Given the description of an element on the screen output the (x, y) to click on. 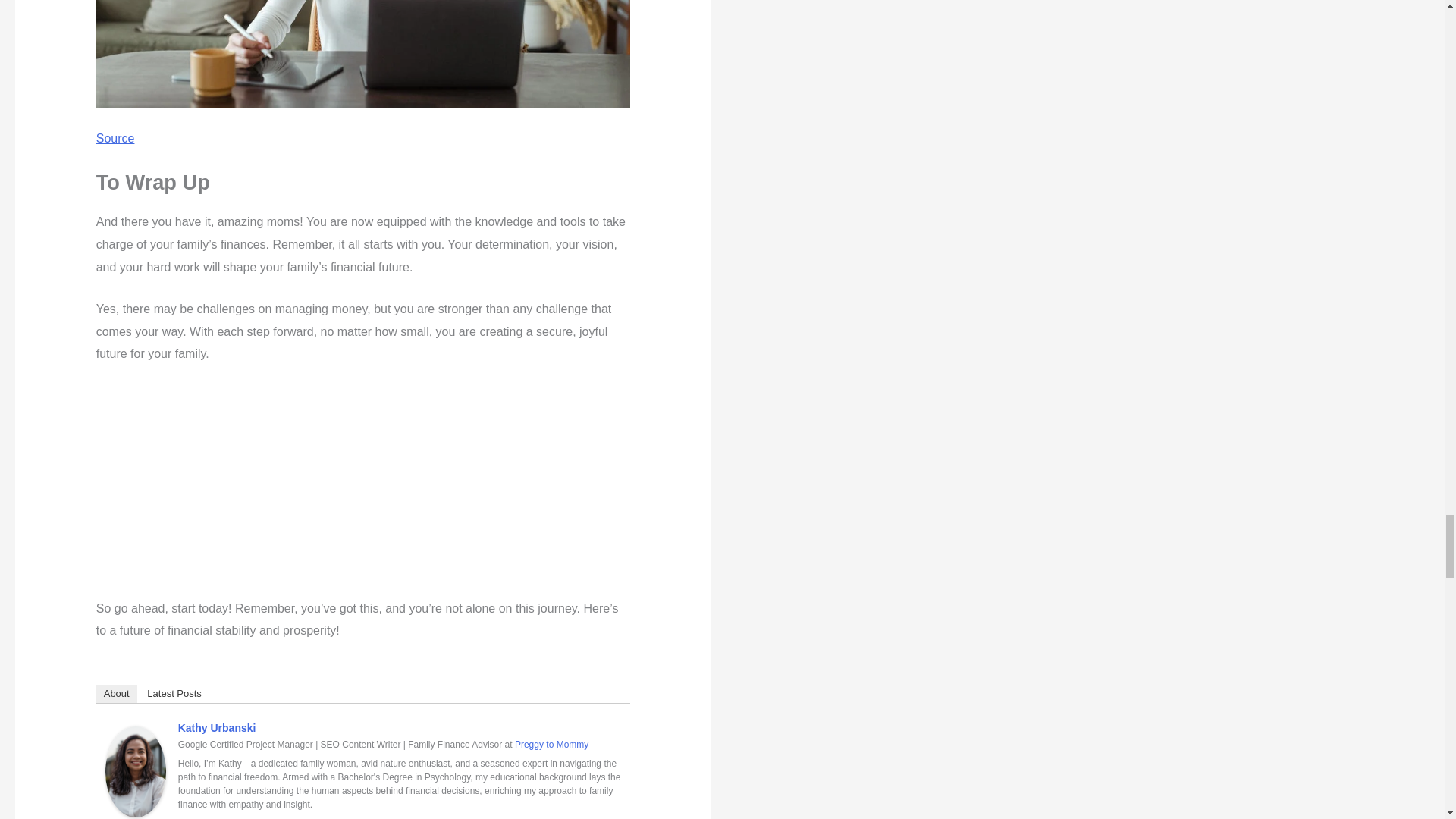
About (116, 693)
Source (115, 137)
Kathy Urbanski (216, 727)
Kathy Urbanski (134, 770)
Preggy to Mommy (551, 744)
Latest Posts (174, 693)
